Given the description of an element on the screen output the (x, y) to click on. 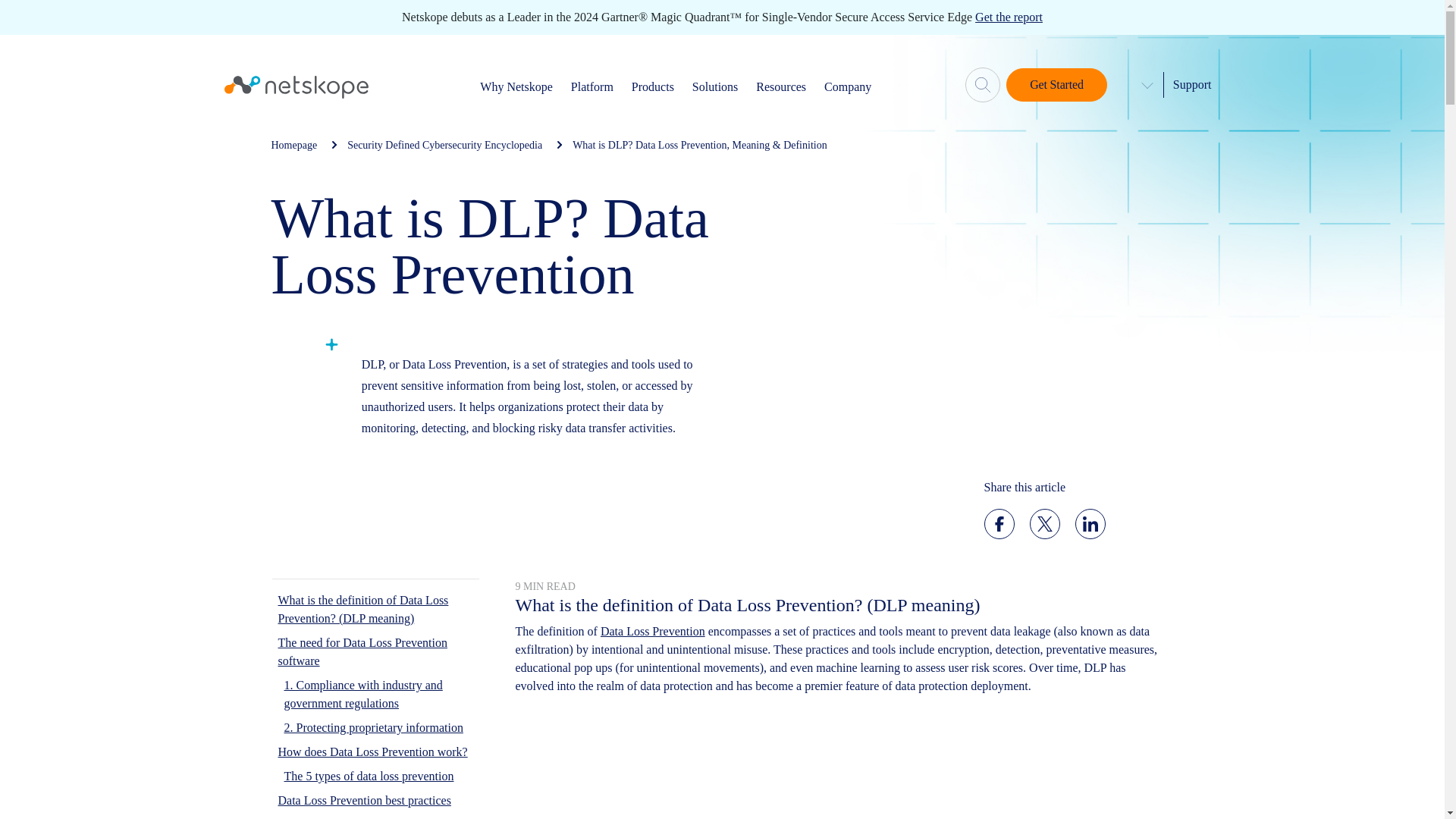
Company (847, 86)
Why Netskope (516, 86)
Get Started (1056, 84)
Products (652, 86)
Solutions (715, 86)
Resources (780, 86)
Support (1192, 83)
Get the report (1008, 16)
Platform (591, 86)
